Given the description of an element on the screen output the (x, y) to click on. 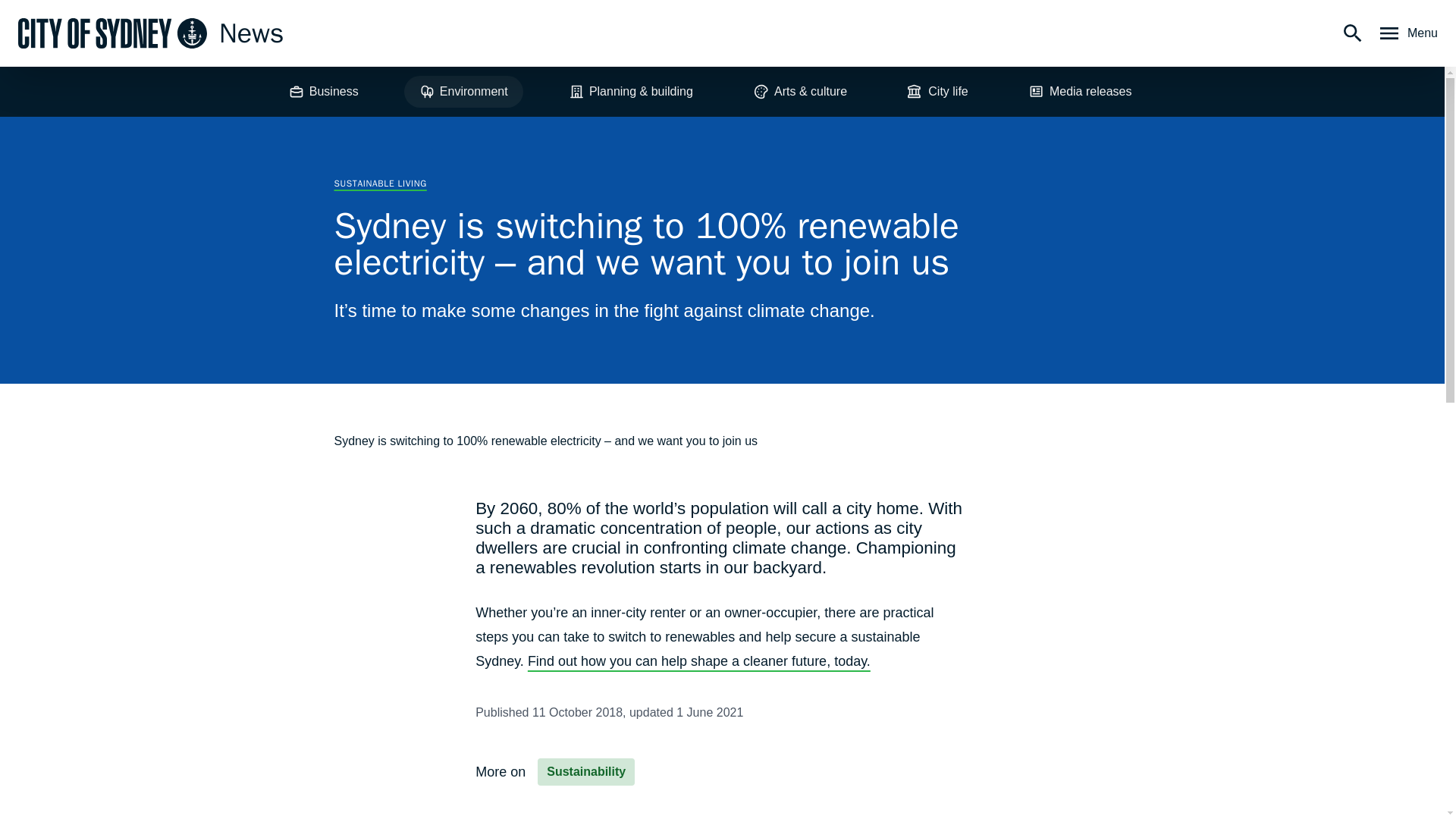
Search (1352, 33)
City life (938, 91)
Find out how you can help shape a cleaner future, today. (698, 661)
Environment (463, 91)
Business (323, 91)
News (150, 33)
Sustainability (585, 771)
SUSTAINABLE LIVING (379, 183)
Media releases (1080, 91)
Tagged Sustainability (585, 771)
